Given the description of an element on the screen output the (x, y) to click on. 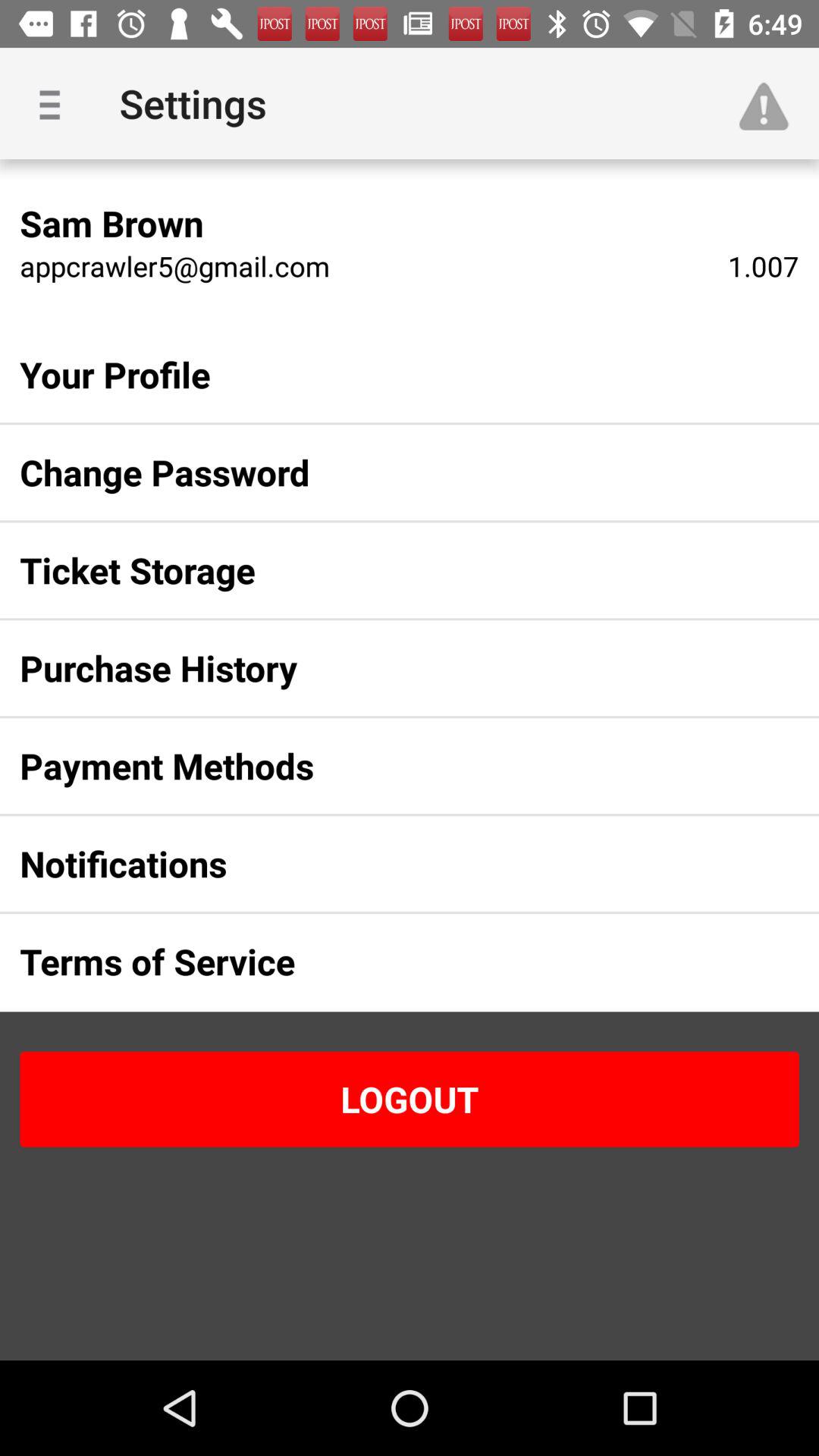
click the sam brown item (111, 223)
